Given the description of an element on the screen output the (x, y) to click on. 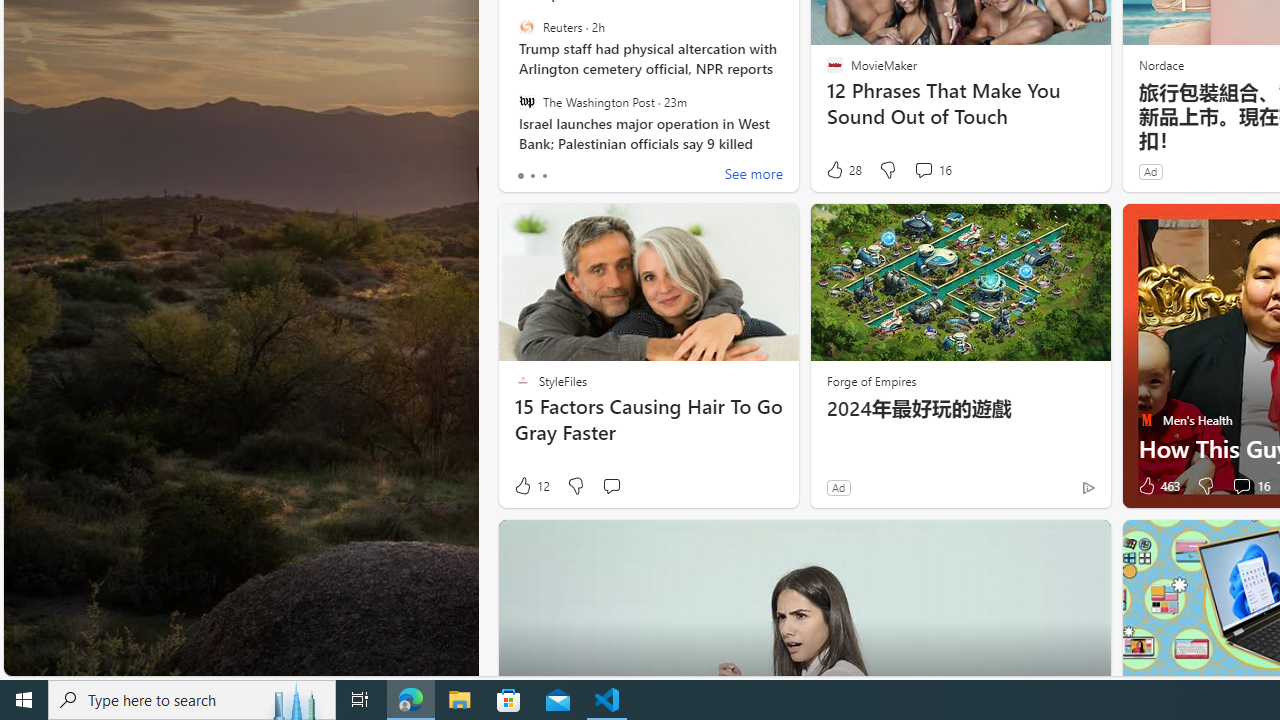
Forge of Empires (870, 380)
12 Like (531, 485)
28 Like (843, 170)
tab-2 (543, 175)
Reuters (526, 27)
The Washington Post (526, 101)
View comments 16 Comment (1249, 485)
